Given the description of an element on the screen output the (x, y) to click on. 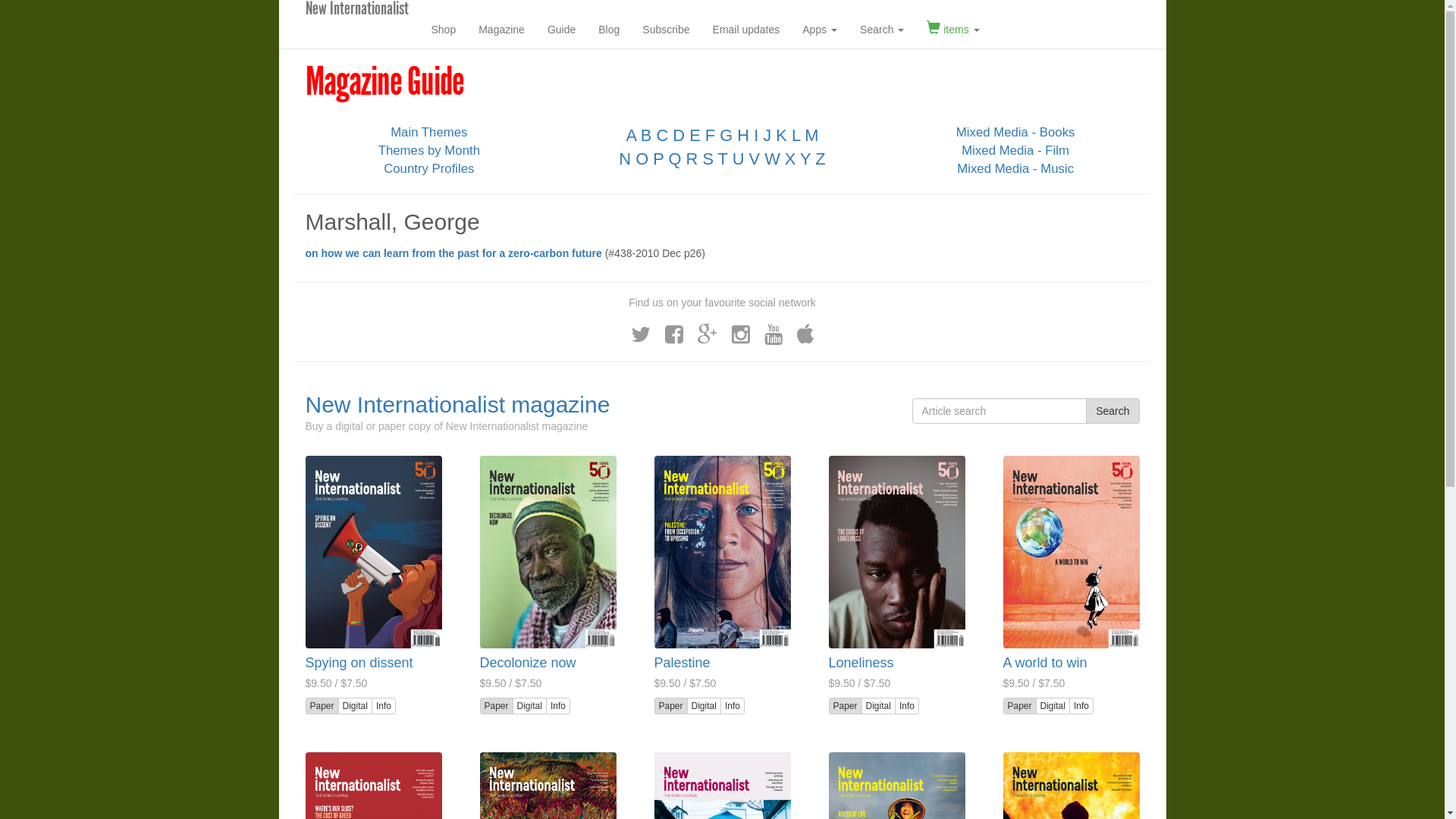
O Element type: text (641, 158)
Paper Element type: text (844, 705)
S Element type: text (707, 158)
W Element type: text (772, 158)
Spying on dissent Element type: text (358, 662)
Main Themes Element type: text (428, 132)
Mixed Media - Music Element type: text (1015, 168)
Spying on dissent Element type: hover (372, 551)
F Element type: text (710, 134)
Themes by Month Element type: text (429, 150)
Paper Element type: text (670, 705)
U Element type: text (738, 158)
Guide Element type: text (561, 29)
H Element type: text (743, 134)
Palestine Element type: hover (721, 551)
L Element type: text (795, 134)
T Element type: text (723, 158)
Info Element type: text (383, 705)
B Element type: text (646, 134)
Paper Element type: text (321, 705)
A world to win Element type: hover (1070, 551)
Paper Element type: text (495, 705)
M Element type: text (811, 134)
A Element type: text (630, 134)
Loneliness Element type: text (860, 662)
D Element type: text (678, 134)
J Element type: text (766, 134)
Digital Element type: text (529, 705)
Shop Element type: text (443, 29)
Info Element type: text (732, 705)
on how we can learn from the past for a zero-carbon future Element type: text (452, 253)
Email updates Element type: text (746, 29)
C Element type: text (661, 134)
P Element type: text (657, 158)
Q Element type: text (674, 158)
Decolonize now Element type: text (527, 662)
G Element type: text (725, 134)
Digital Element type: text (355, 705)
Paper Element type: text (1018, 705)
Y Element type: text (805, 158)
A world to win Element type: text (1044, 662)
Blog Element type: text (608, 29)
Z Element type: text (820, 158)
Search Element type: text (1112, 410)
Subscribe Element type: text (665, 29)
Palestine Element type: text (681, 662)
E Element type: text (694, 134)
Search Element type: text (881, 29)
Info Element type: text (906, 705)
Info Element type: text (558, 705)
Digital Element type: text (704, 705)
Country Profiles Element type: text (428, 168)
Loneliness Element type: hover (896, 551)
Mixed Media - Film Element type: text (1015, 150)
Apps Element type: text (819, 29)
X Element type: text (790, 158)
V Element type: text (753, 158)
Decolonize now Element type: hover (547, 551)
I Element type: text (755, 134)
K Element type: text (781, 134)
R Element type: text (692, 158)
items Element type: text (952, 29)
Magazine Element type: text (501, 29)
New Internationalist Element type: text (355, 18)
Digital Element type: text (878, 705)
N Element type: text (624, 158)
Digital Element type: text (1052, 705)
Info Element type: text (1081, 705)
Mixed Media - Books Element type: text (1015, 132)
Magazine Guide Element type: text (383, 81)
New Internationalist magazine Element type: text (456, 404)
